Given the description of an element on the screen output the (x, y) to click on. 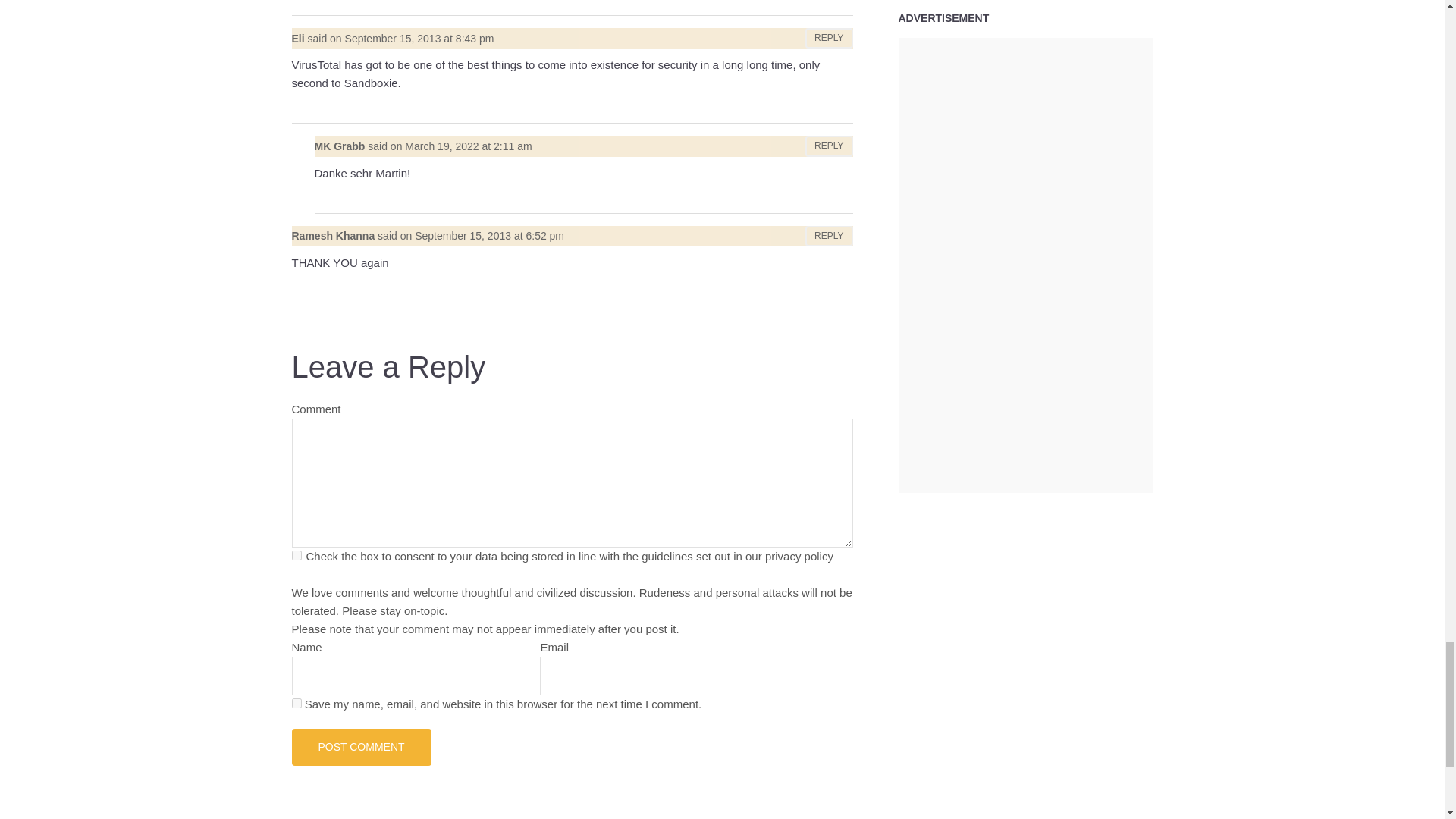
yes (296, 703)
Post Comment (360, 746)
privacy-key (296, 555)
